Given the description of an element on the screen output the (x, y) to click on. 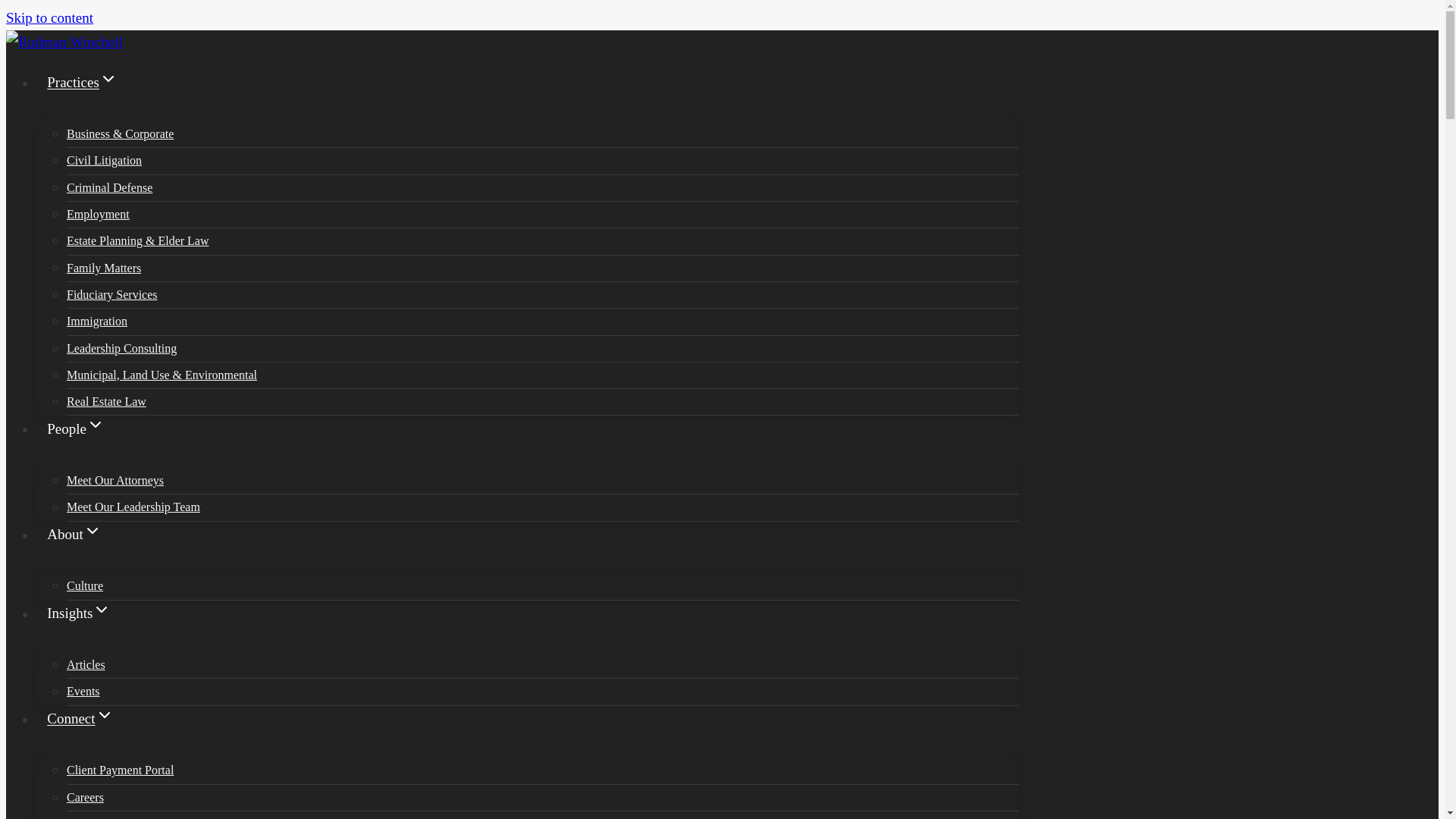
PeopleExpand (527, 441)
Employment (542, 214)
PracticesExpand (527, 95)
Client Payment Portal (542, 769)
Leadership Consulting (542, 348)
Meet Our Leadership Team (542, 507)
Family Matters (542, 268)
Criminal Defense (542, 187)
Expand (94, 424)
Skip to content (49, 17)
Immigration (542, 321)
Expand (108, 78)
InsightsExpand (527, 626)
Culture (542, 585)
